Given the description of an element on the screen output the (x, y) to click on. 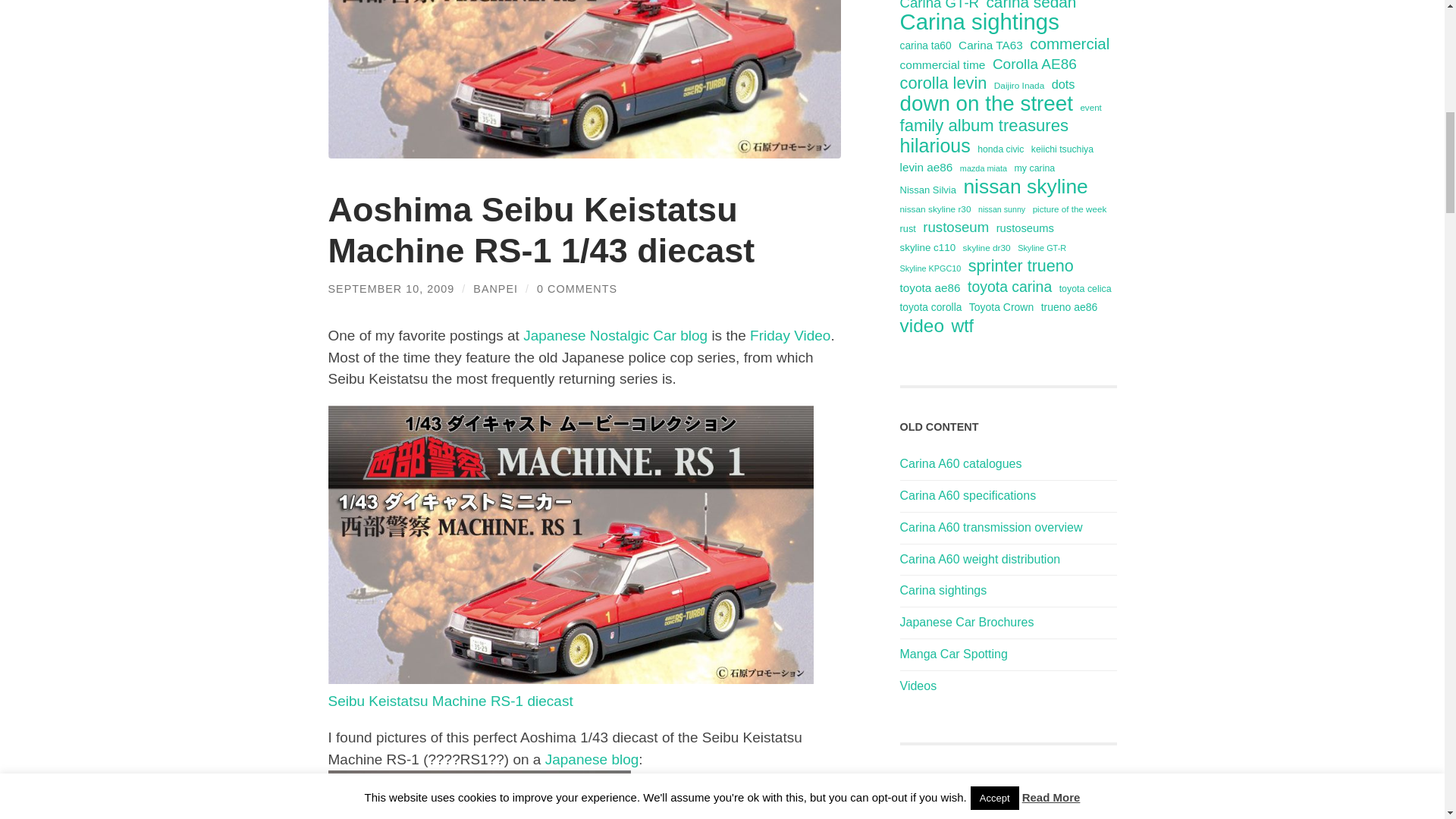
Japanese blog (591, 759)
Posts by banpei (495, 288)
Seibu Keistatsu Machine RS-1 diecast (478, 794)
Seibu Keistatsu Machine RS-1 diecast (569, 689)
0 COMMENTS (577, 288)
Friday Video (789, 335)
BANPEI (495, 288)
Japanese Nostalgic Car blog (614, 335)
Seibu Keistatsu Machine RS-1 diecast (569, 689)
SEPTEMBER 10, 2009 (390, 288)
